Given the description of an element on the screen output the (x, y) to click on. 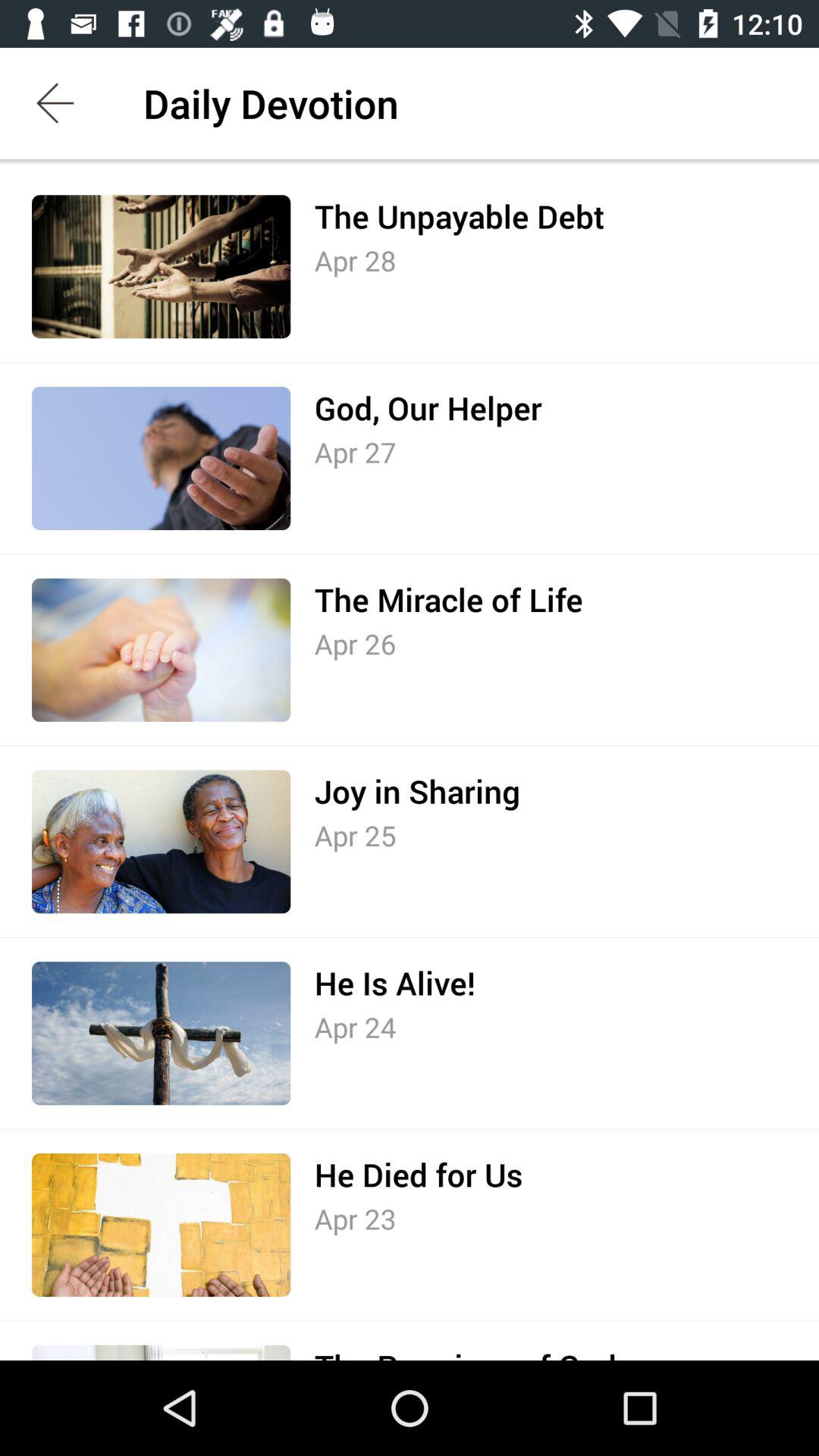
swipe to he died for (418, 1174)
